Given the description of an element on the screen output the (x, y) to click on. 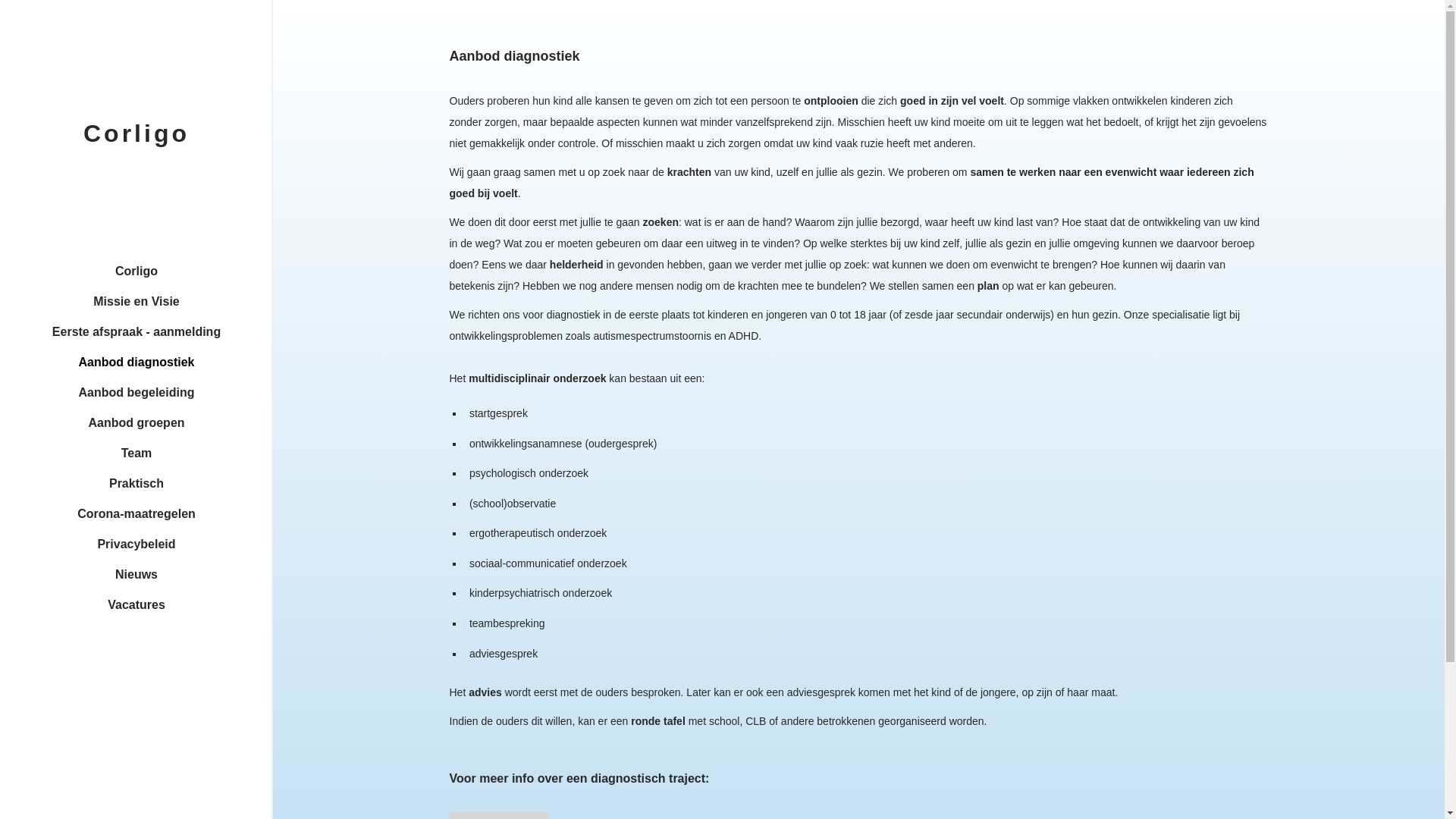
Corona-maatregelen Element type: text (136, 513)
Privacybeleid Element type: text (136, 544)
Aanbod diagnostiek Element type: text (136, 362)
Praktisch Element type: text (136, 483)
Team Element type: text (136, 453)
Aanbod groepen Element type: text (136, 422)
Nieuws Element type: text (136, 574)
Eerste afspraak - aanmelding Element type: text (136, 331)
Vacatures Element type: text (136, 604)
Missie en Visie Element type: text (136, 301)
Corligo Element type: text (136, 271)
Corligo Element type: text (136, 133)
Aanbod begeleiding Element type: text (136, 392)
